Given the description of an element on the screen output the (x, y) to click on. 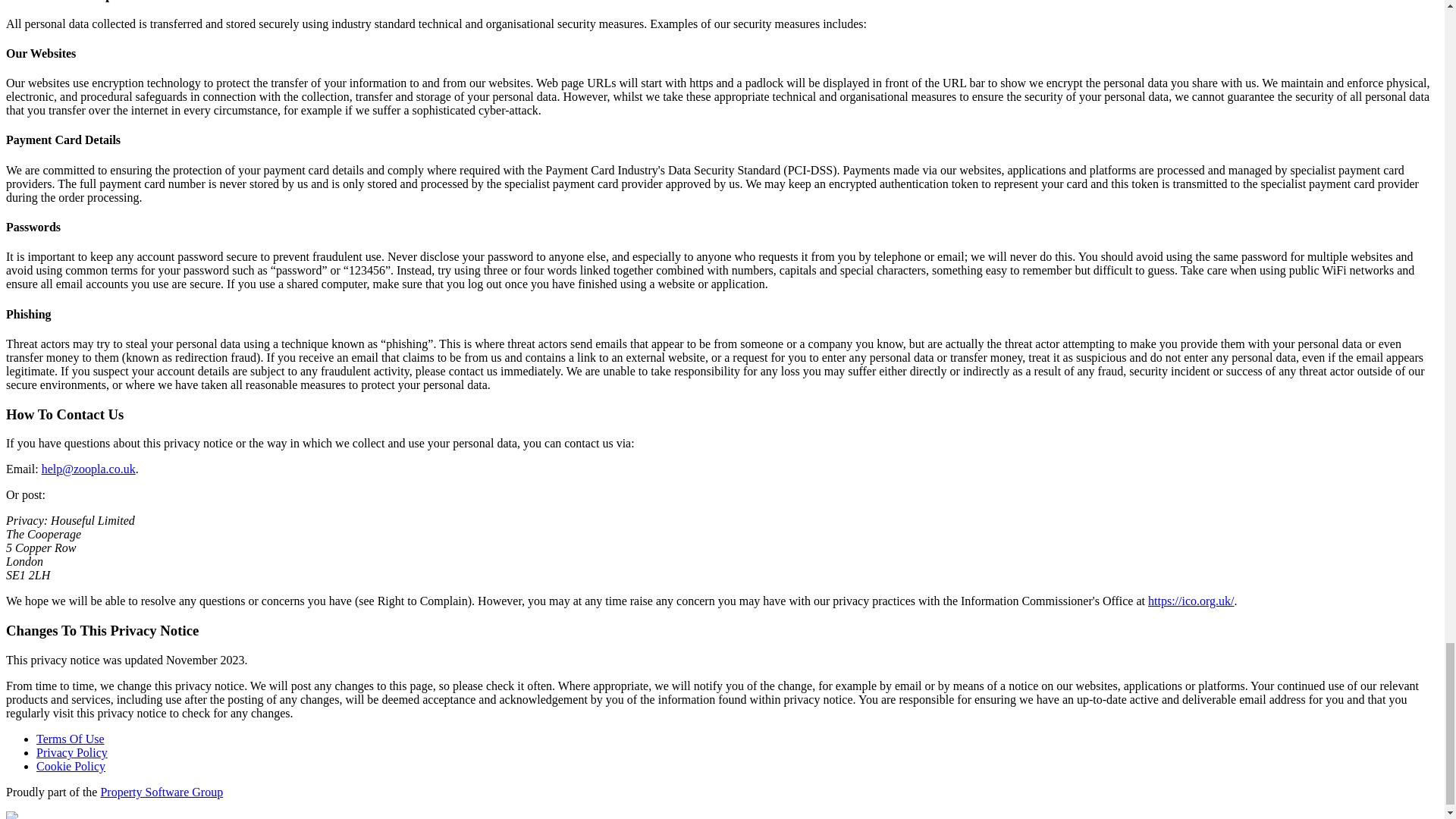
Privacy Policy (71, 752)
Property Software Group (161, 791)
Terms Of Use (70, 738)
Cookie Policy (70, 766)
